Given the description of an element on the screen output the (x, y) to click on. 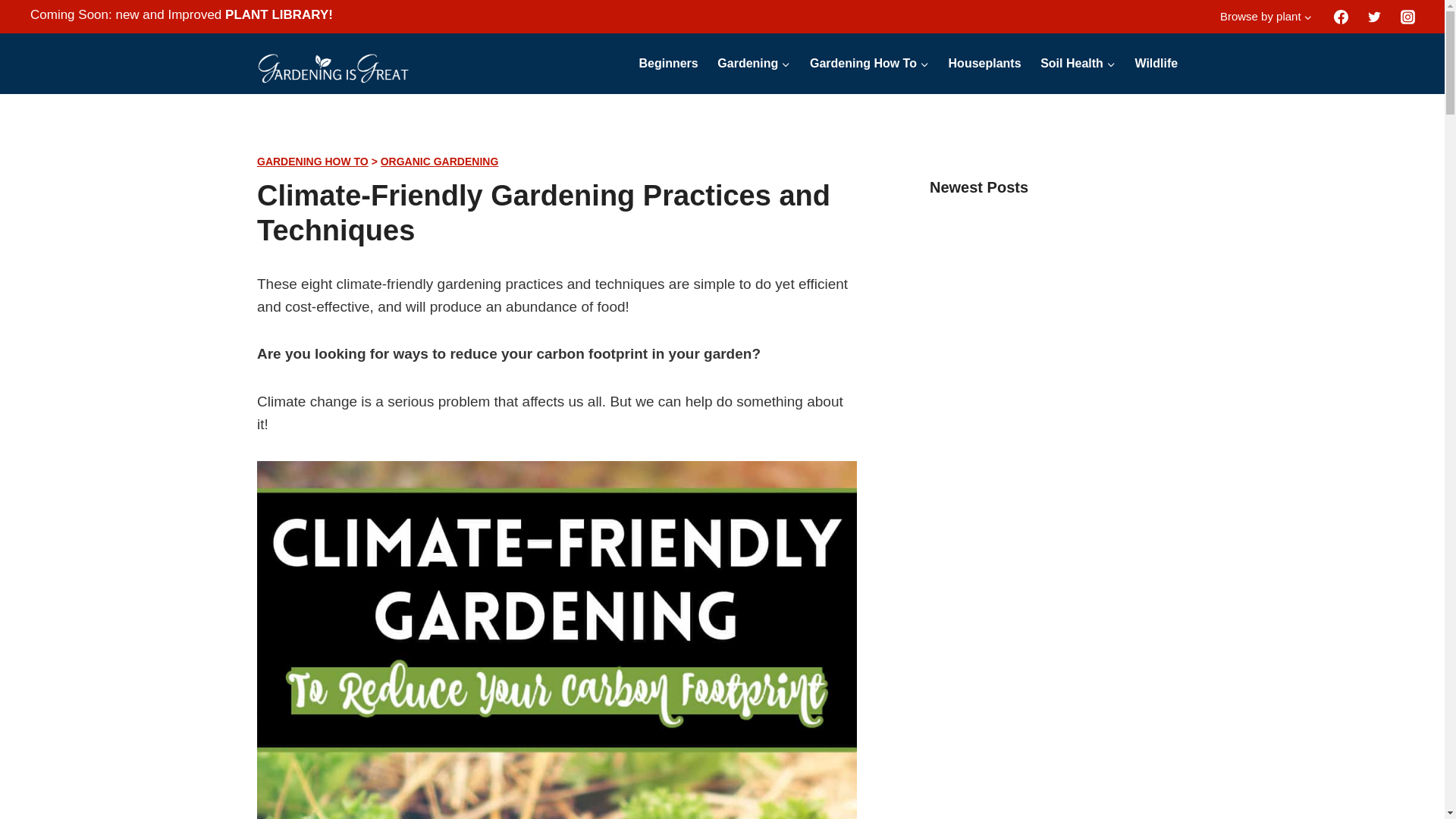
Gardening How To (869, 63)
Gardening (753, 63)
Houseplants (984, 63)
Soil Health (1077, 63)
Wildlife (1156, 63)
Beginners (667, 63)
Browse by plant (1265, 16)
